Given the description of an element on the screen output the (x, y) to click on. 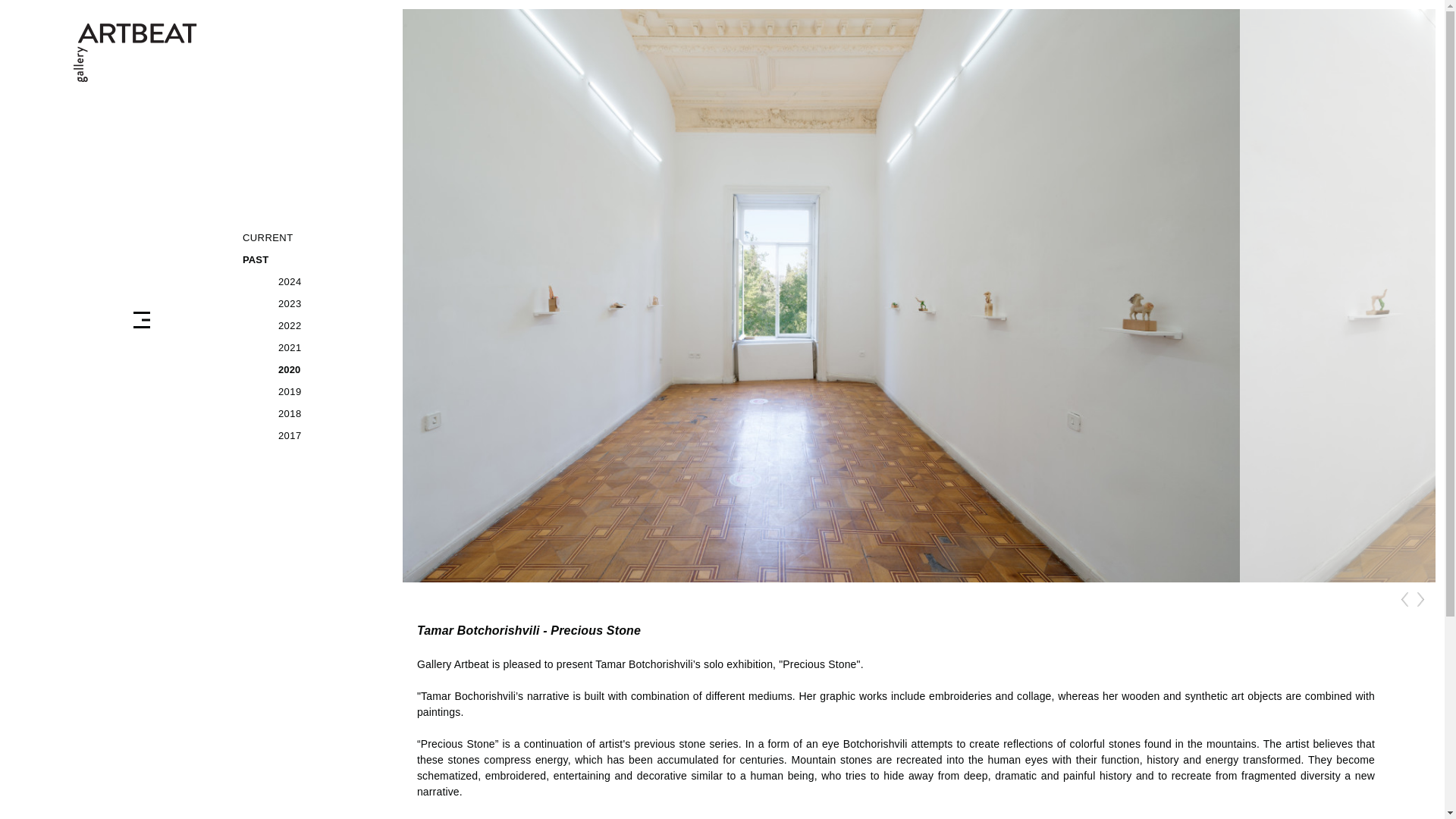
2024 (325, 281)
PAST (310, 259)
CURRENT (310, 237)
